Given the description of an element on the screen output the (x, y) to click on. 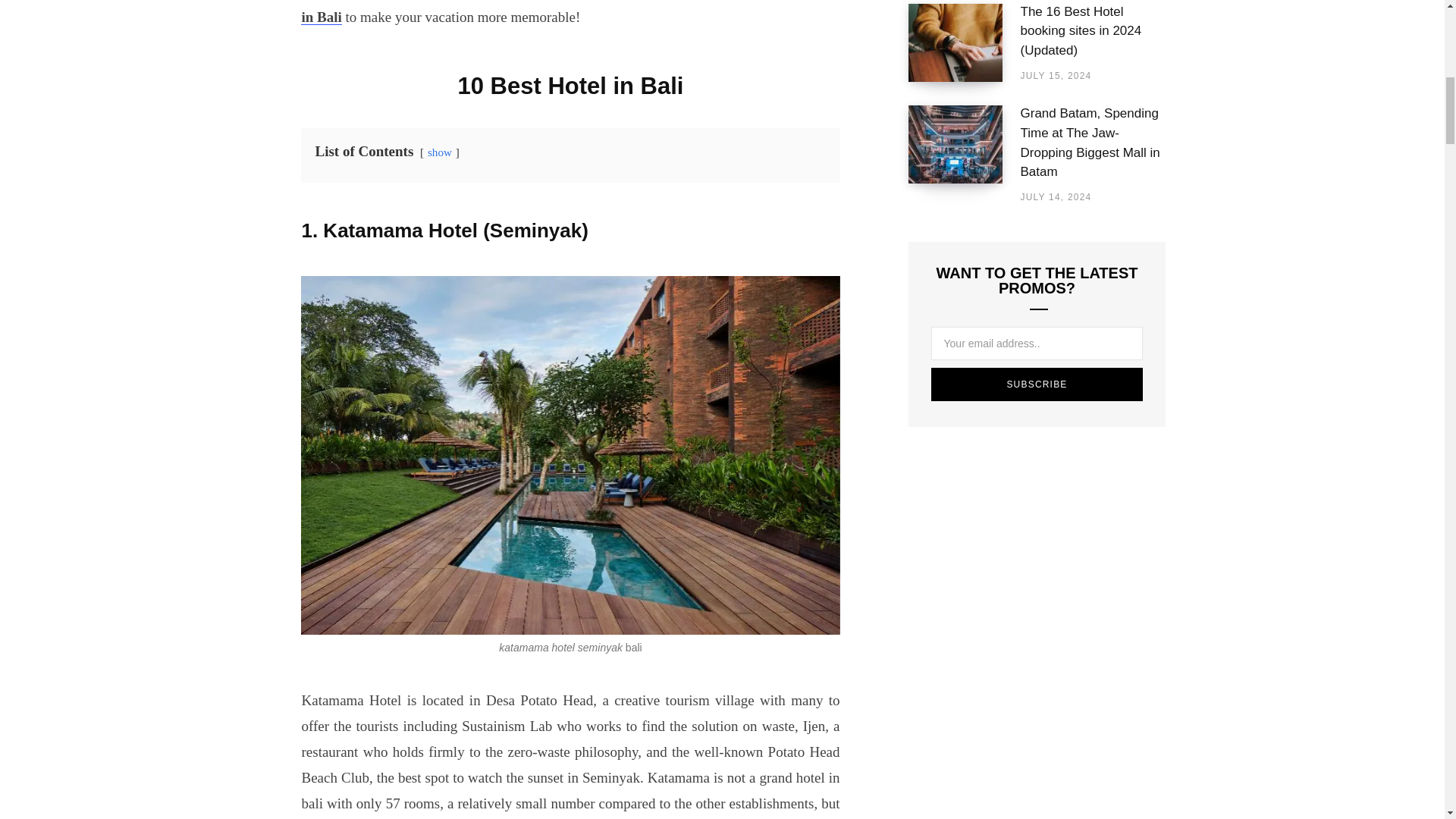
Subscribe (1036, 384)
hotels in Bali (570, 12)
show (439, 151)
